Given the description of an element on the screen output the (x, y) to click on. 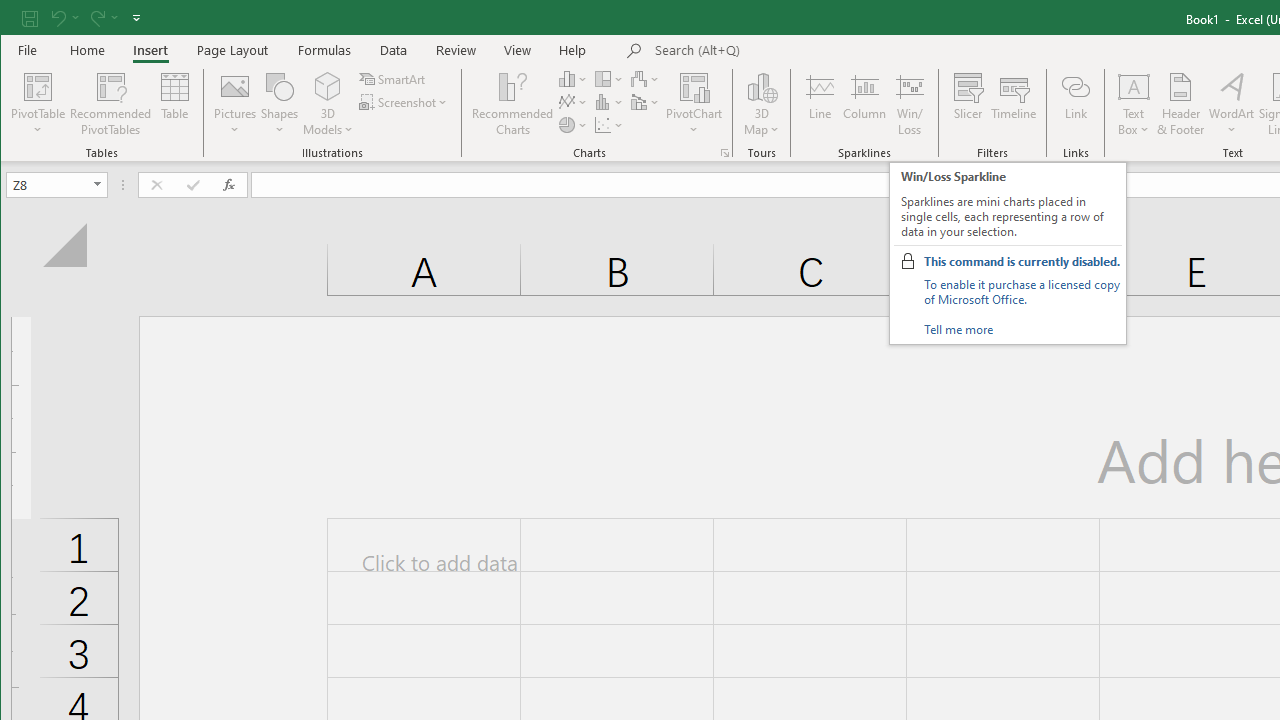
Insert Column or Bar Chart (573, 78)
Link (1075, 104)
Column (864, 104)
Insert Hierarchy Chart (609, 78)
WordArt (1231, 104)
Insert Waterfall, Funnel, Stock, Surface, or Radar Chart (646, 78)
Table (174, 104)
Insert Scatter (X, Y) or Bubble Chart (609, 124)
